Given the description of an element on the screen output the (x, y) to click on. 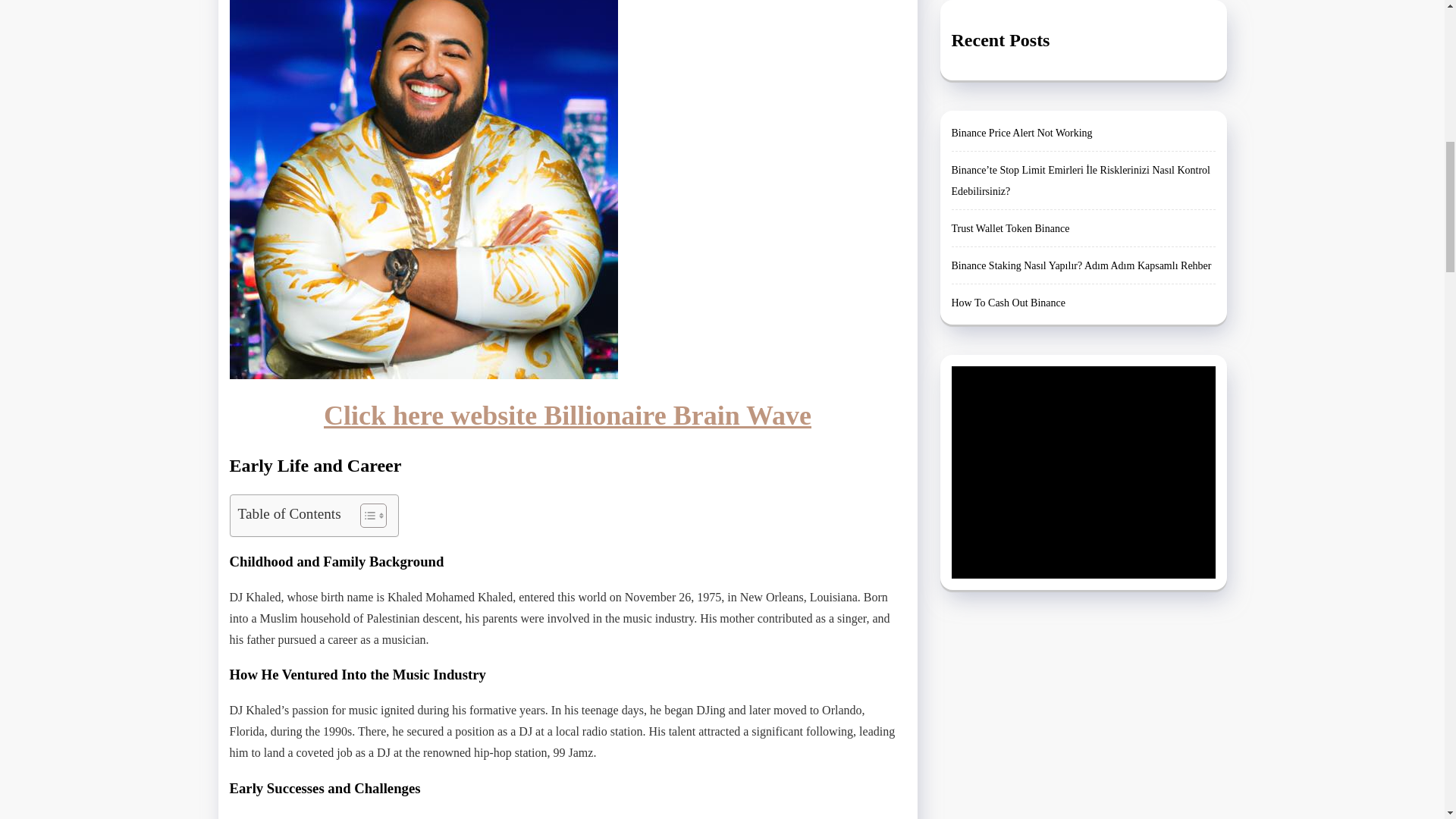
Click here website Billionaire Brain Wave (566, 415)
